Given the description of an element on the screen output the (x, y) to click on. 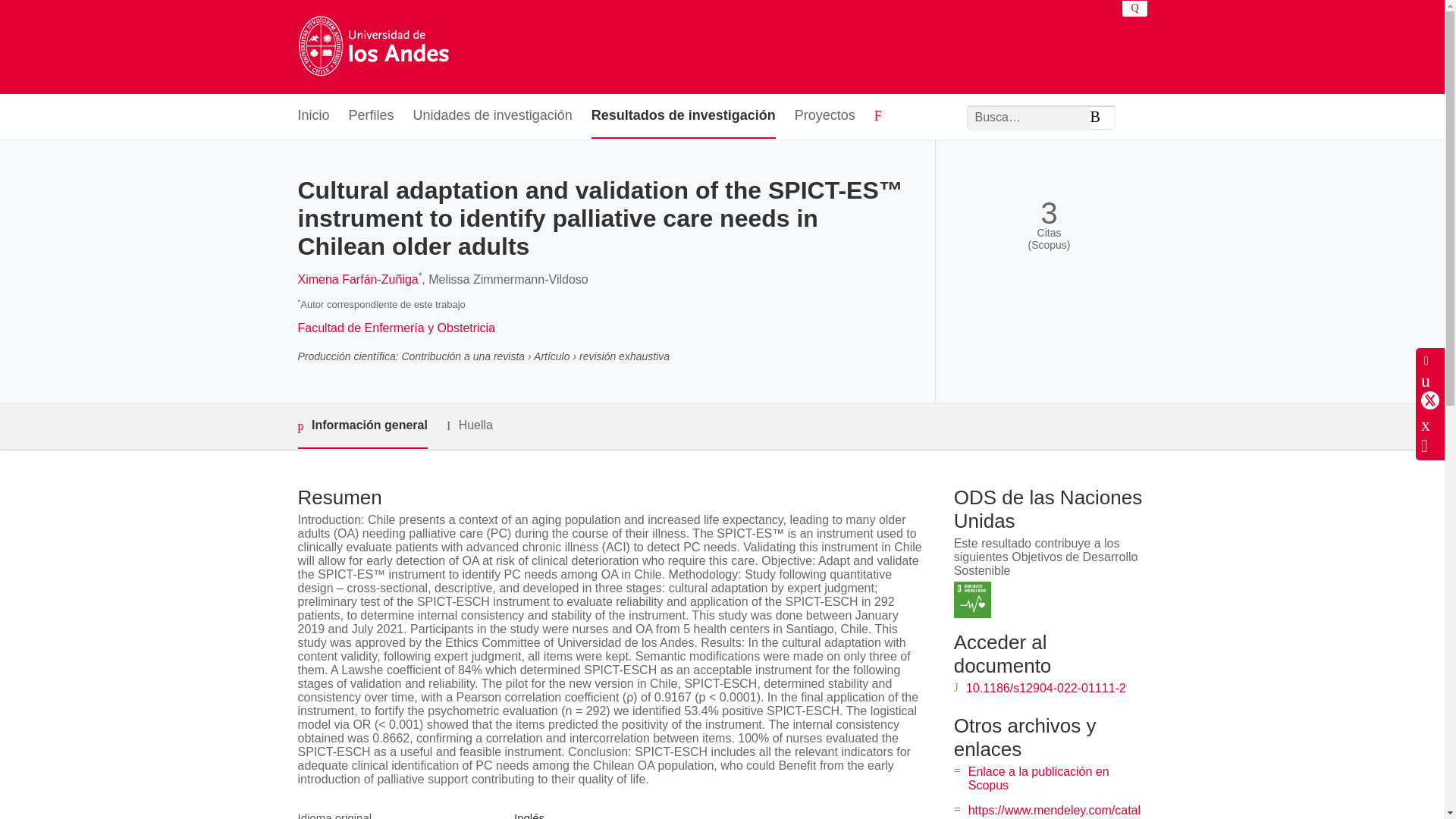
Huella (469, 425)
Universidad de los Andes Inicio (372, 46)
Perfiles (371, 116)
Proyectos (825, 116)
